Given the description of an element on the screen output the (x, y) to click on. 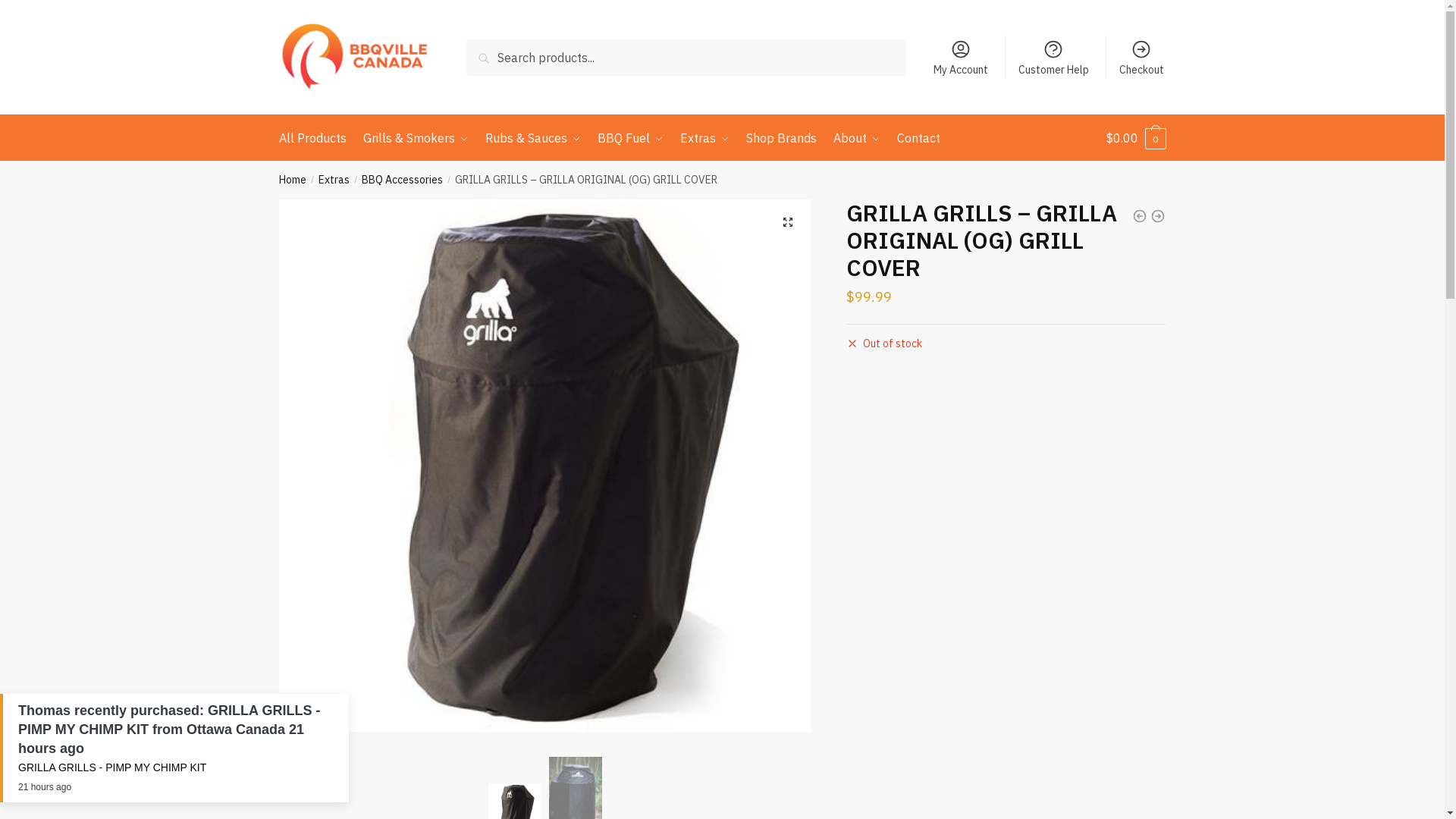
My Account Element type: text (960, 56)
Home Element type: text (292, 179)
Shop Brands Element type: text (781, 137)
$0.00 0 Element type: text (1135, 137)
Checkout Element type: text (1141, 56)
All Products Element type: text (316, 137)
Search Element type: text (489, 49)
grilla-grill-cover-large.jpg Element type: hover (545, 465)
Extras Element type: text (333, 179)
BBQ Accessories Element type: text (401, 179)
Contact Element type: text (918, 137)
Grills & Smokers Element type: text (415, 137)
BBQ Fuel Element type: text (630, 137)
Customer Help Element type: text (1053, 56)
Rubs & Sauces Element type: text (532, 137)
About Element type: text (856, 137)
Extras Element type: text (704, 137)
